Given the description of an element on the screen output the (x, y) to click on. 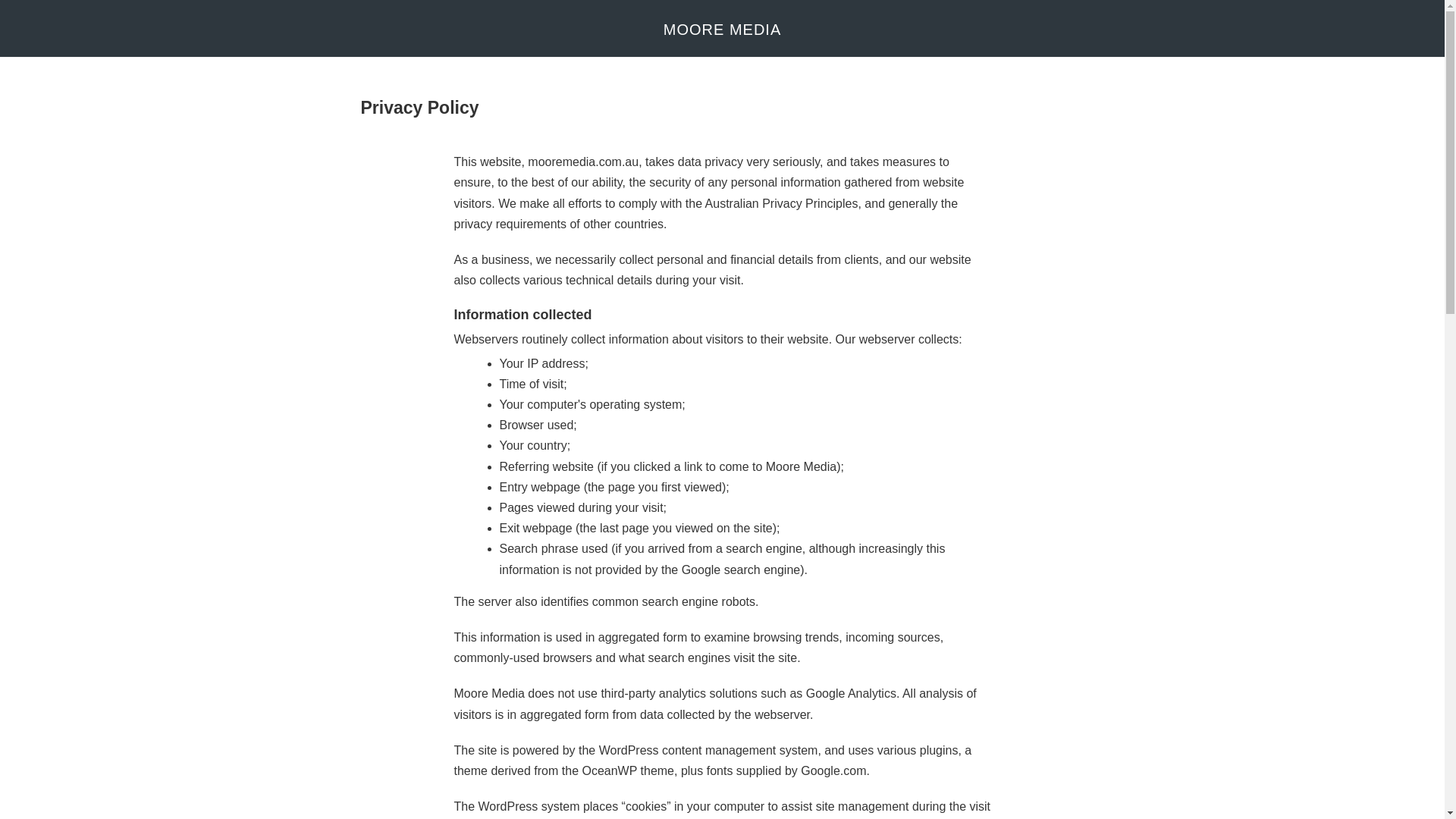
MOORE MEDIA (721, 29)
